Given the description of an element on the screen output the (x, y) to click on. 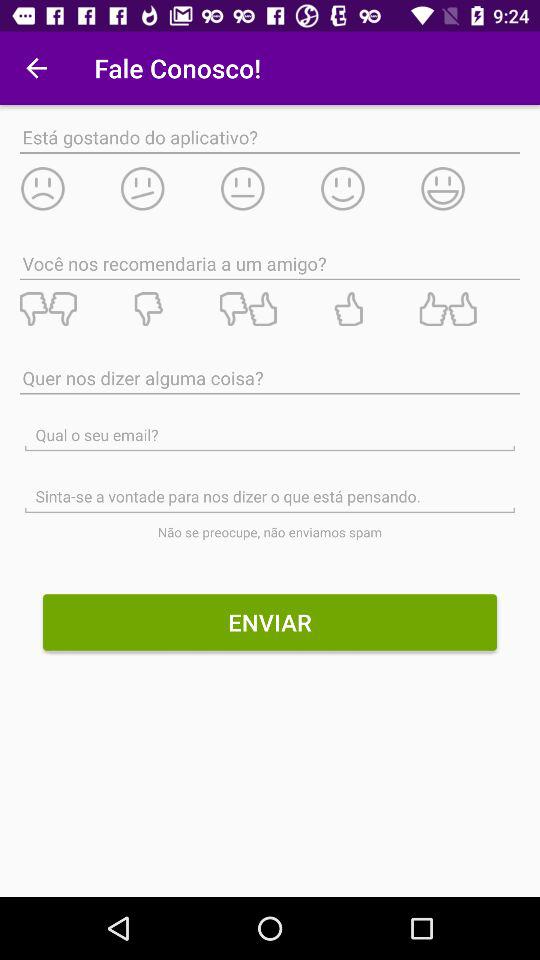
give low rating (69, 188)
